Given the description of an element on the screen output the (x, y) to click on. 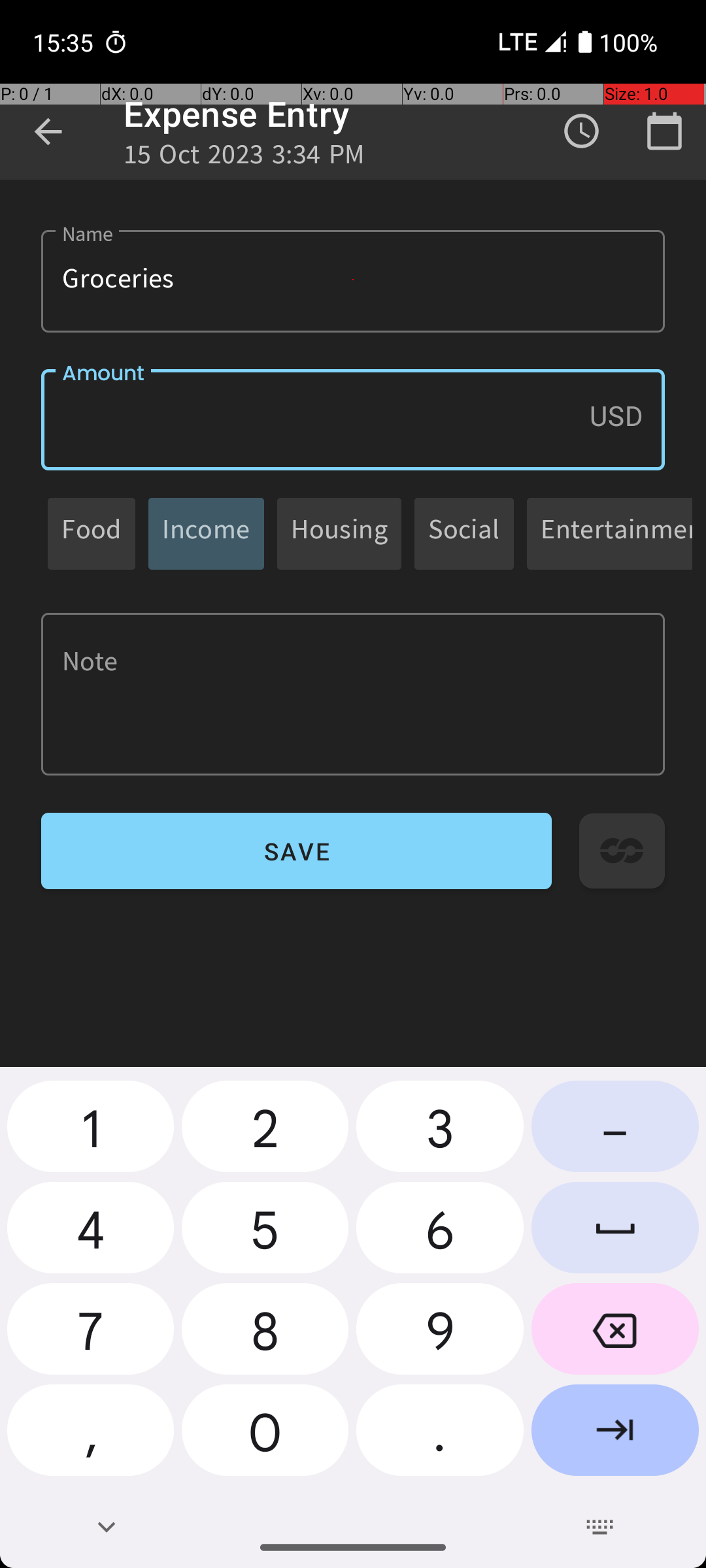
Groceries Element type: android.widget.EditText (352, 280)
